Given the description of an element on the screen output the (x, y) to click on. 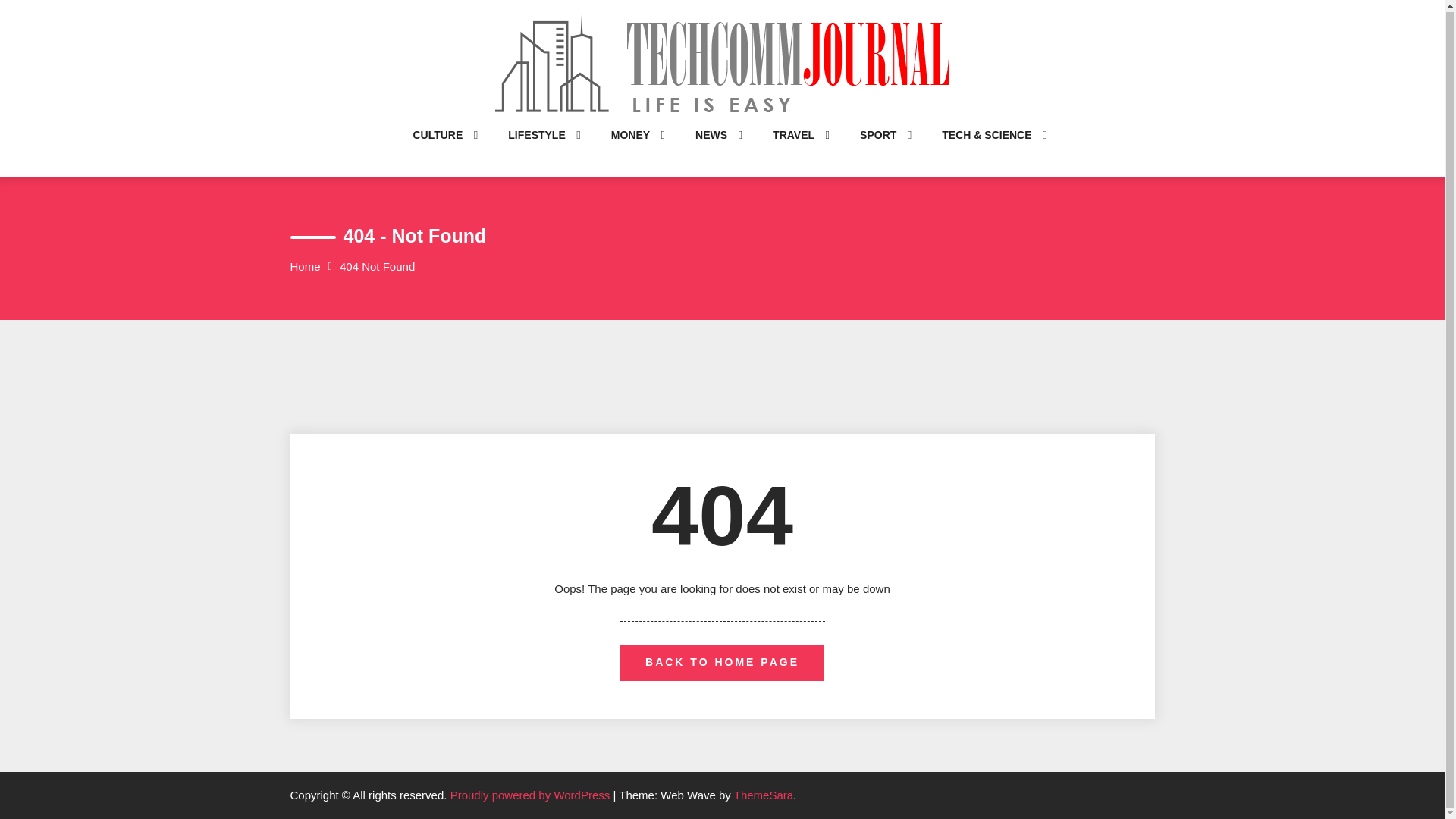
LIFESTYLE (536, 149)
CULTURE (437, 149)
